Given the description of an element on the screen output the (x, y) to click on. 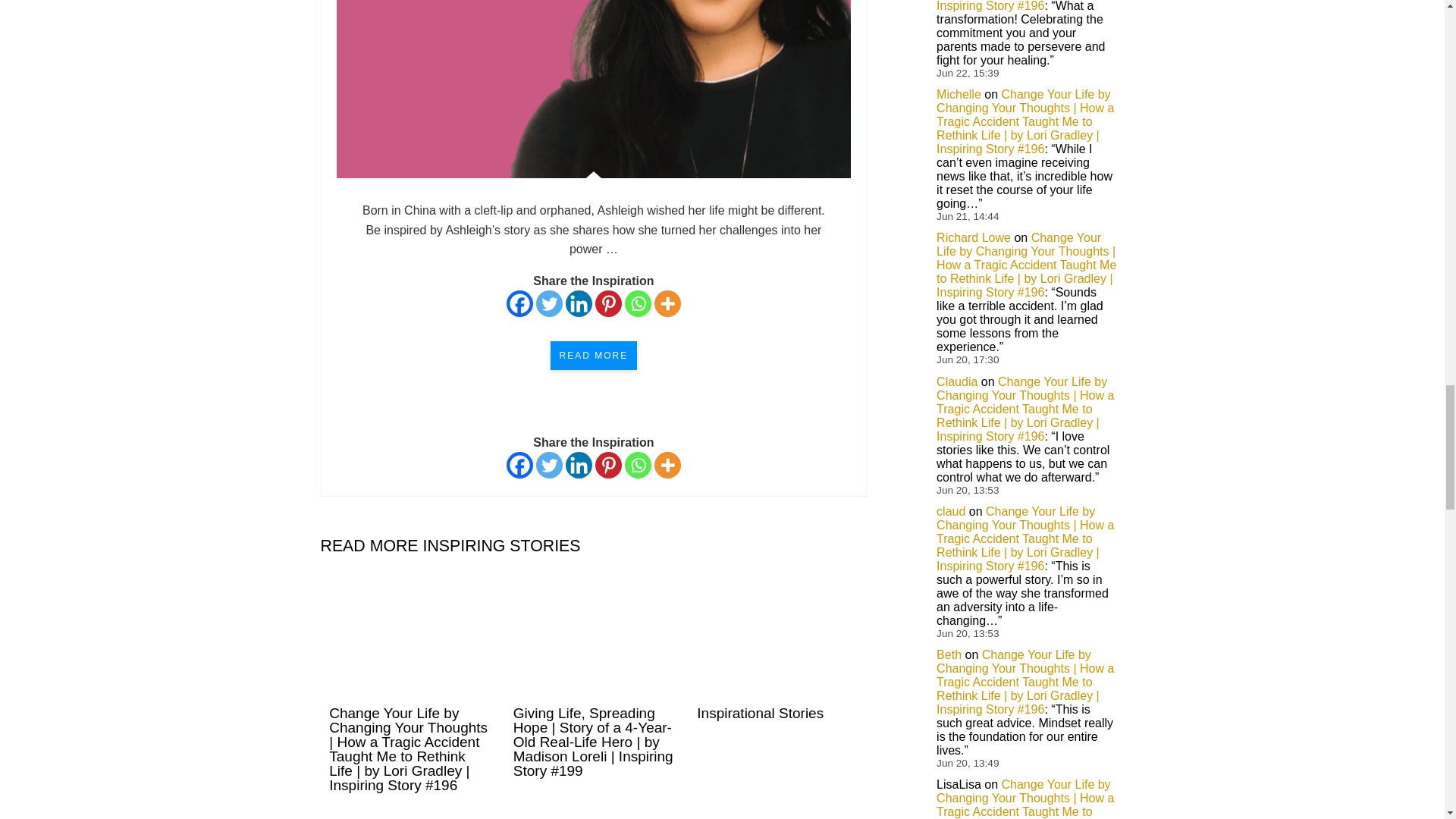
Facebook (519, 303)
Twitter (548, 303)
